Given the description of an element on the screen output the (x, y) to click on. 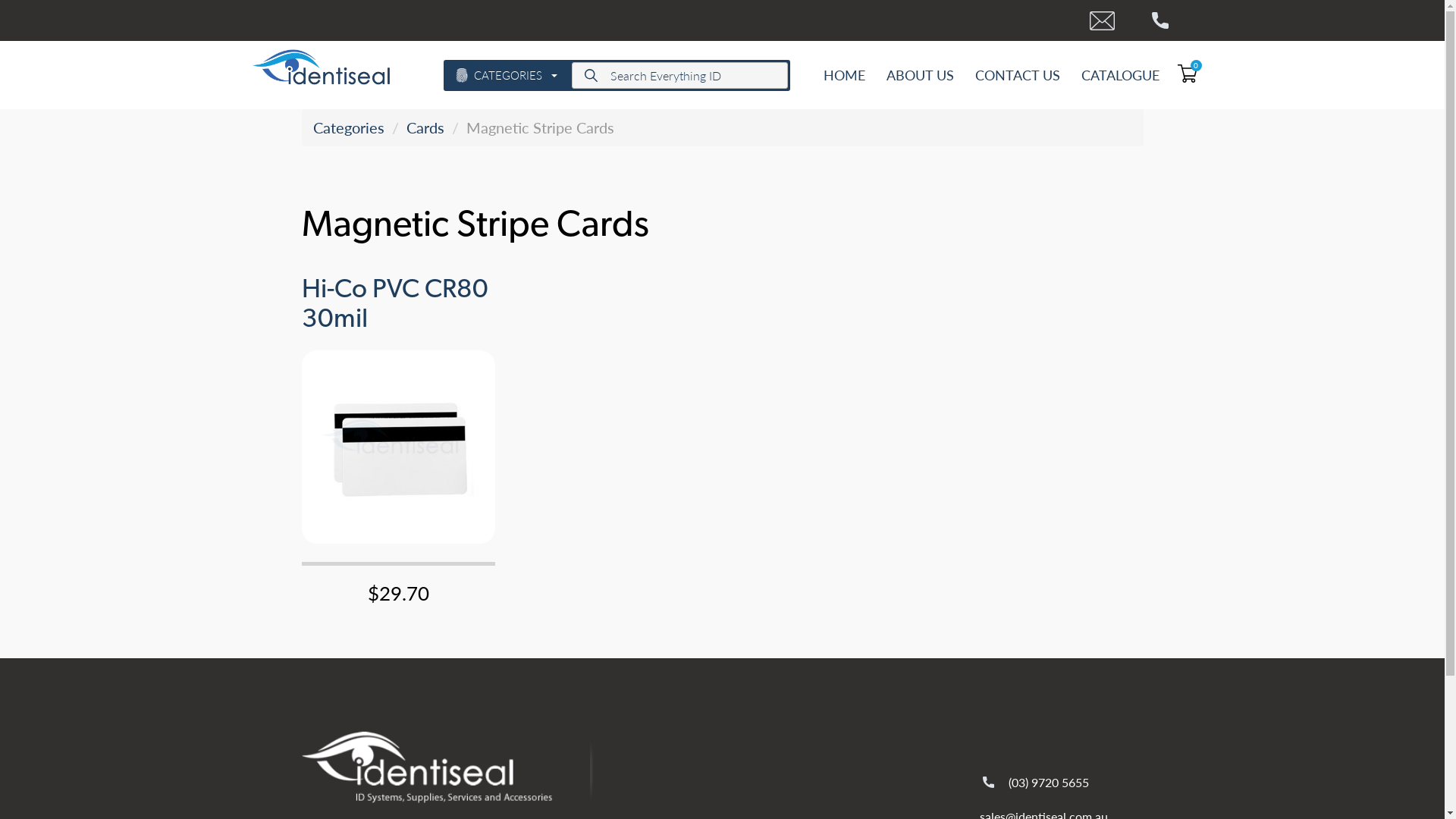
  Element type: text (1107, 20)
(03) 9720 5655 Element type: text (1035, 781)
Categories Element type: text (347, 127)
0 Element type: text (1181, 71)
Cards Element type: text (425, 127)
ABOUT US Element type: text (919, 74)
HOME Element type: text (843, 74)
Hi-Co PVC CR80 30mil Element type: text (394, 305)
   Element type: text (1171, 20)
CATALOGUE Element type: text (1114, 74)
CONTACT US Element type: text (1017, 74)
